Given the description of an element on the screen output the (x, y) to click on. 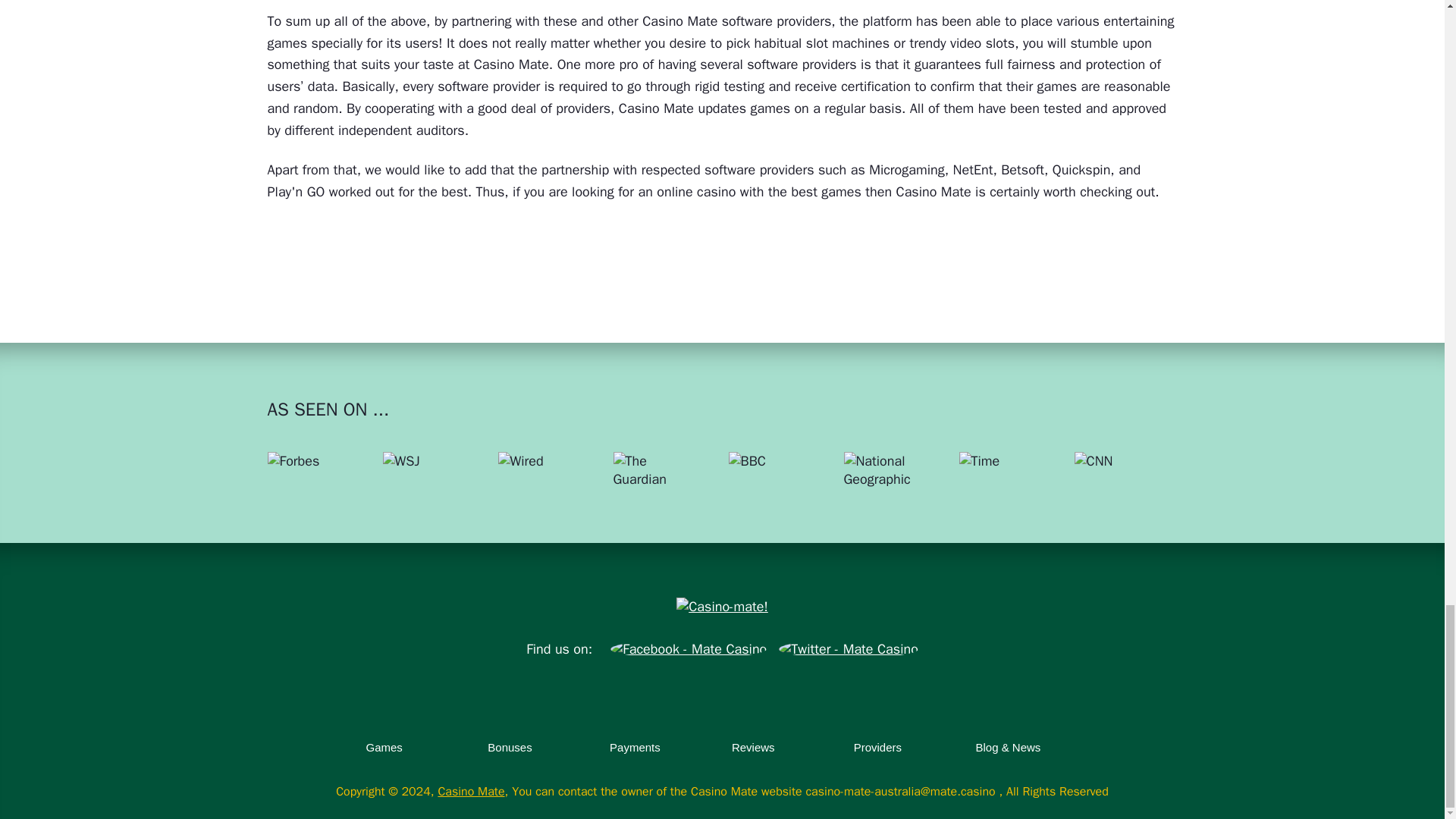
Casino Mate (721, 606)
Facebook - Mate Casino (688, 648)
Twitter - Mate Casino (848, 648)
